Given the description of an element on the screen output the (x, y) to click on. 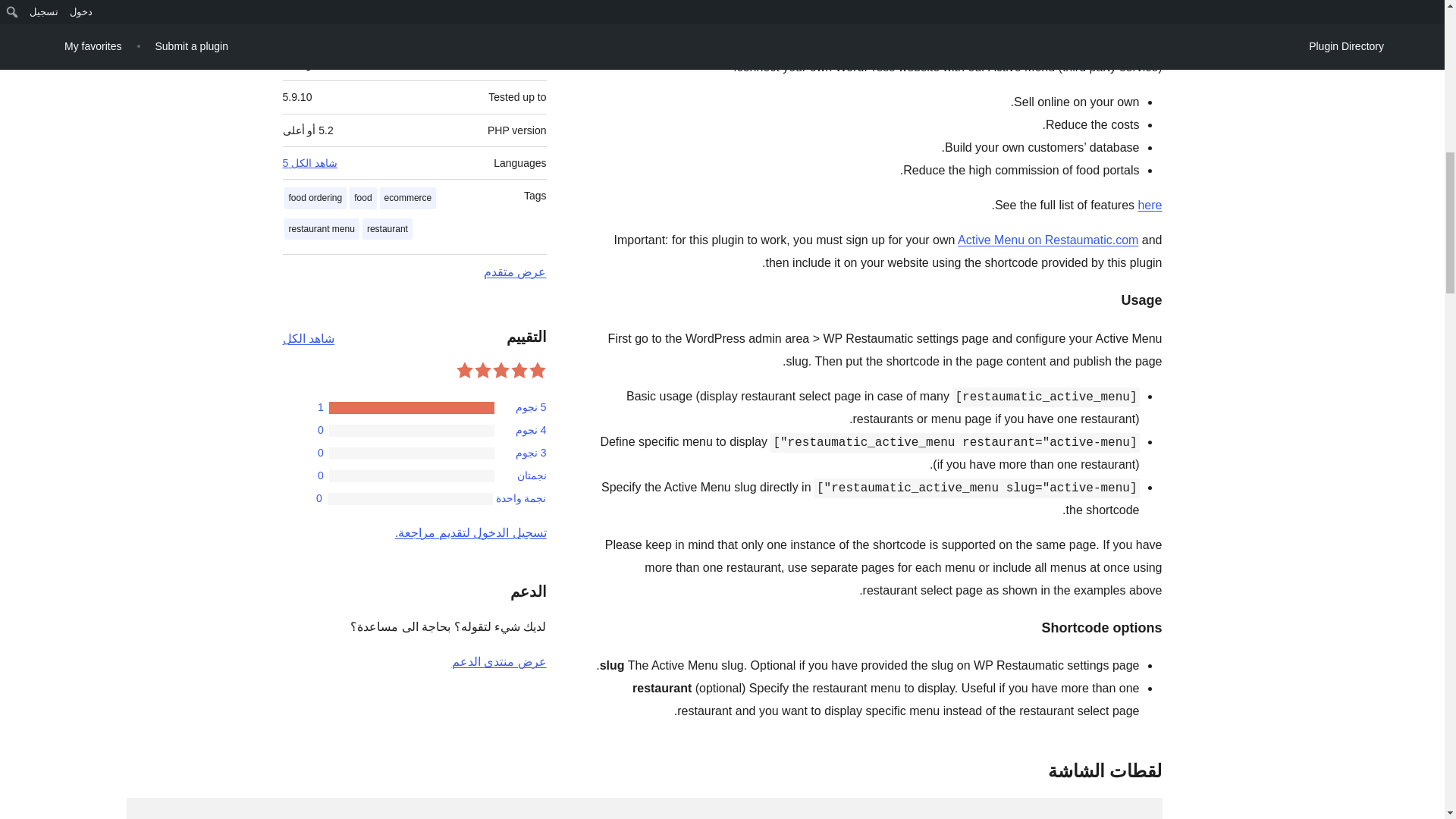
Active Menu on Restaumatic.com (1048, 239)
here (1149, 205)
